Given the description of an element on the screen output the (x, y) to click on. 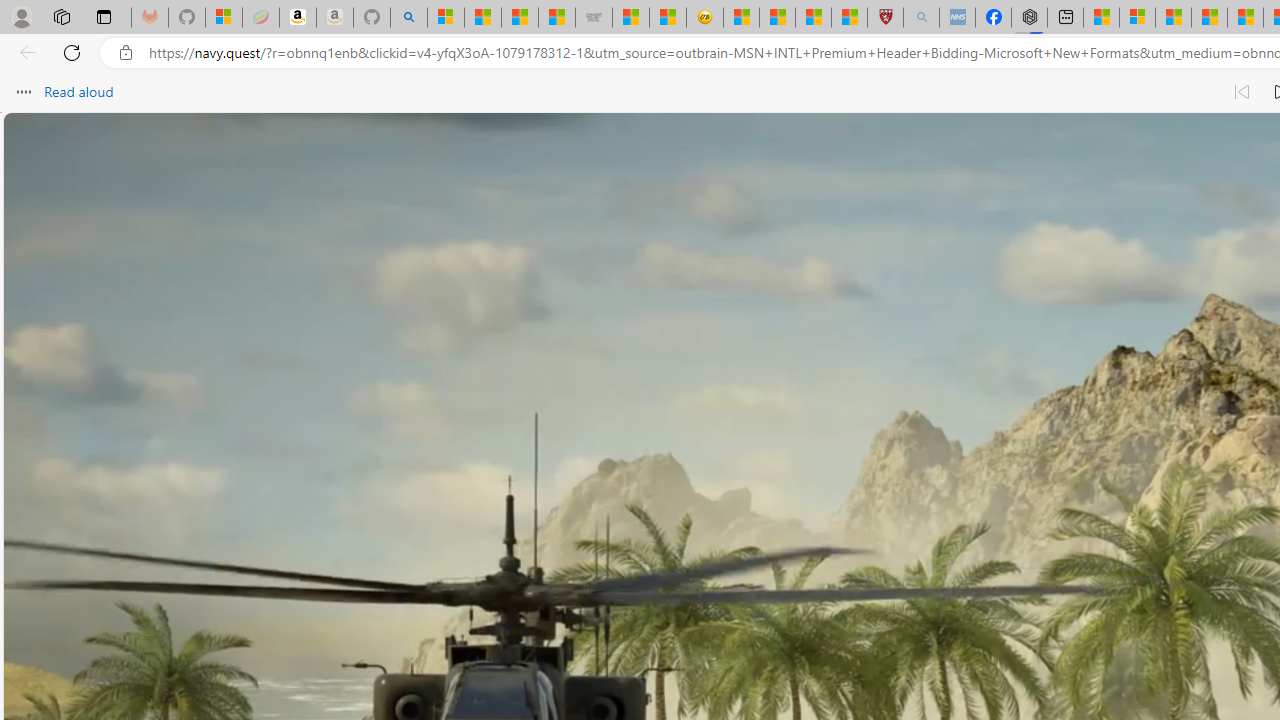
list of asthma inhalers uk - Search - Sleeping (921, 17)
Robert H. Shmerling, MD - Harvard Health (884, 17)
